Given the description of an element on the screen output the (x, y) to click on. 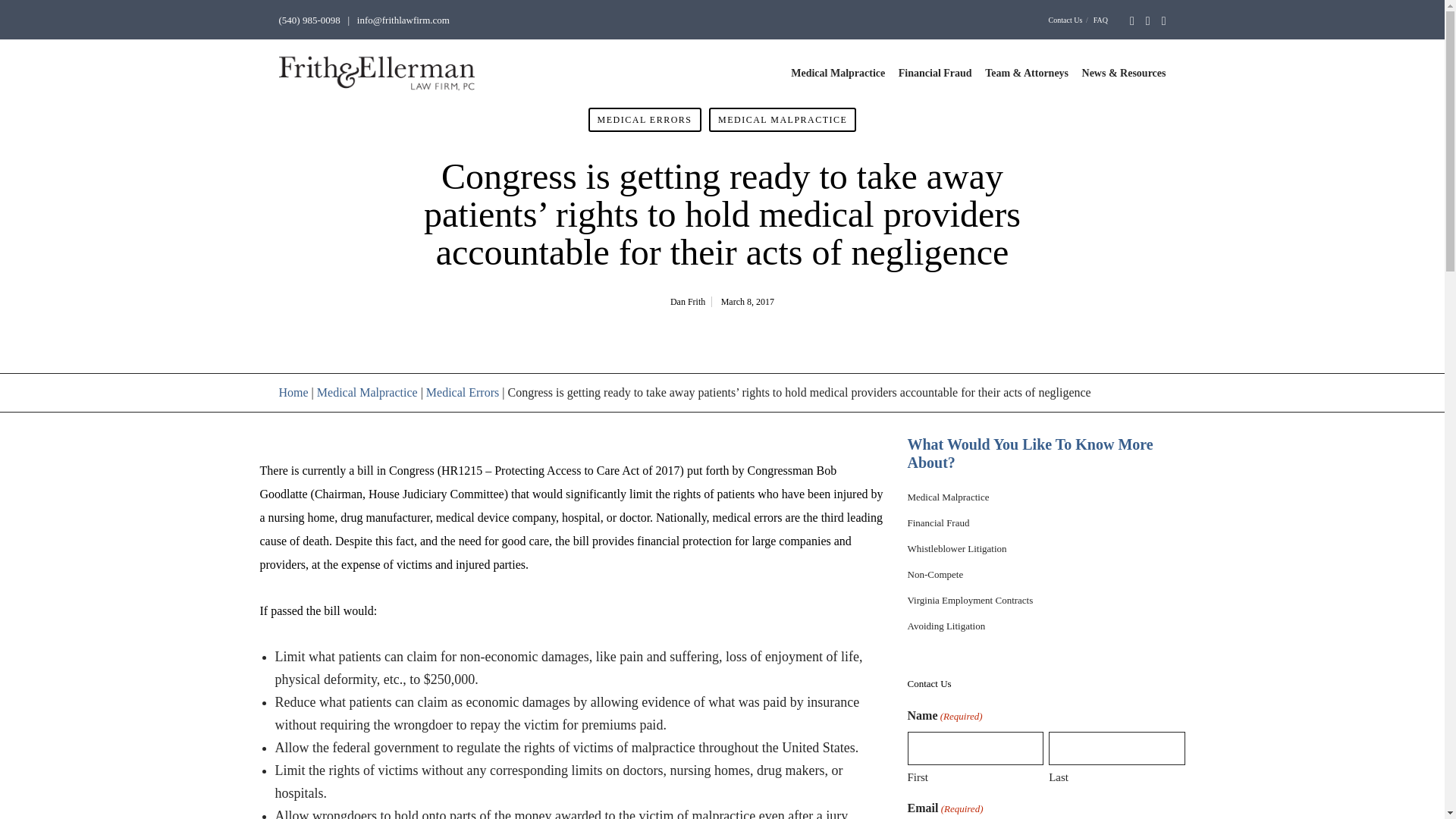
Medical Malpractice (367, 391)
Medical Malpractice (837, 73)
Non-Compete (934, 573)
Avoiding Litigation (946, 625)
Financial Fraud (935, 73)
Medical Errors (462, 391)
FAQ (1100, 19)
Whistleblower Litigation (956, 548)
Medical Malpractice (947, 496)
MEDICAL MALPRACTICE (782, 119)
Home (293, 391)
Virginia Employment Contracts (969, 600)
MEDICAL ERRORS (644, 119)
Submit (53, 17)
Financial Fraud (938, 522)
